Given the description of an element on the screen output the (x, y) to click on. 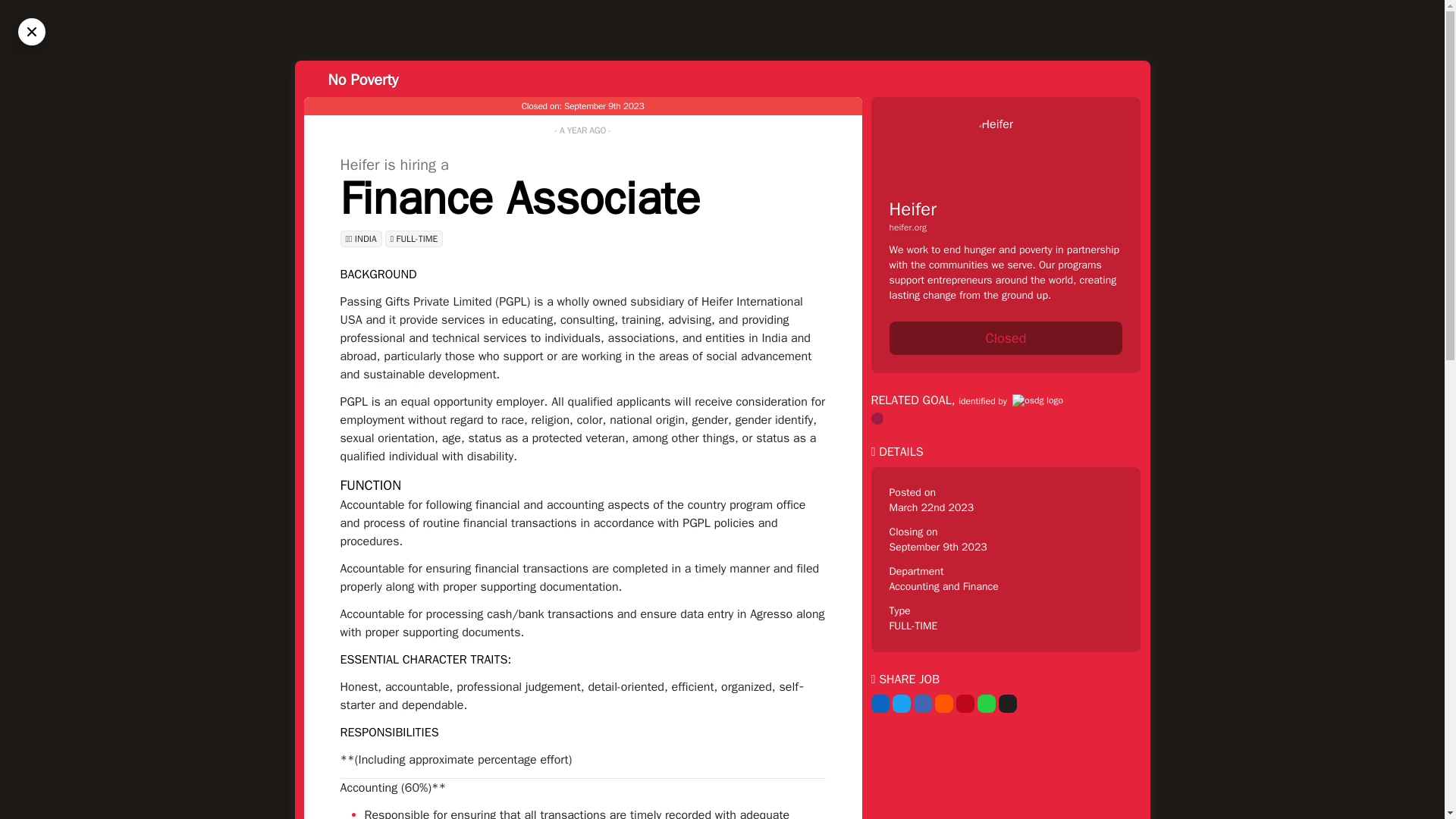
share with email (1006, 703)
share with whatsapp (985, 703)
heifer.org (1005, 227)
share on facebook (921, 703)
share on linkedin (879, 703)
Accounting and Finance (942, 585)
share on pinterest (964, 703)
Heifer (912, 209)
share on reddit (943, 703)
Decent Work and Economic Growth sustainability jobs (876, 418)
